Given the description of an element on the screen output the (x, y) to click on. 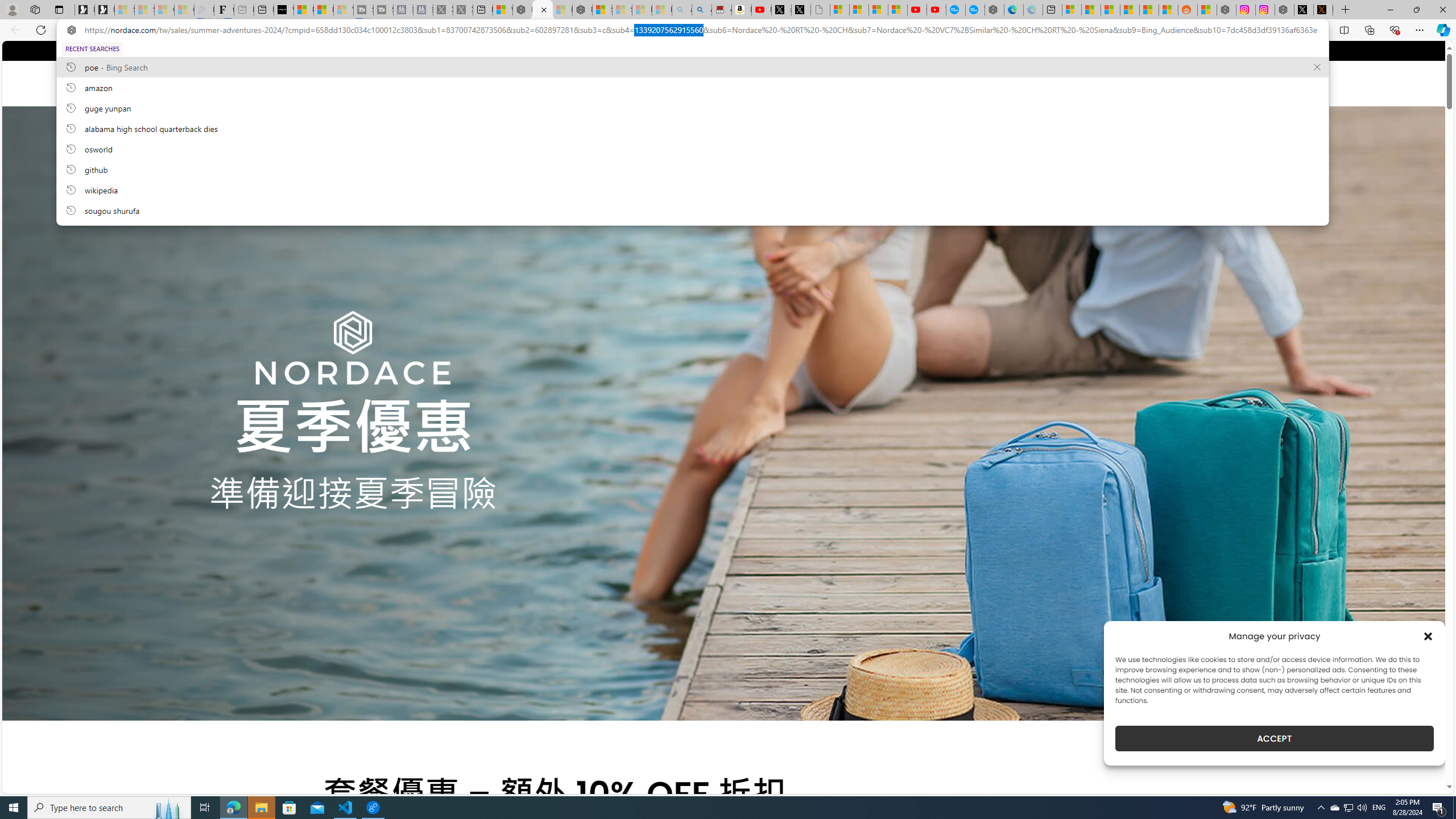
Newsletter Sign Up (104, 9)
Refresh (40, 29)
Microsoft account | Microsoft Account Privacy Settings (1071, 9)
Untitled (820, 9)
Minimize (1390, 9)
New tab - Sleeping (243, 9)
ACCEPT (1274, 738)
Wildlife - MSN (501, 9)
Follow on Twitter (349, 50)
sougou shurufa, recent searches from history (691, 209)
